Given the description of an element on the screen output the (x, y) to click on. 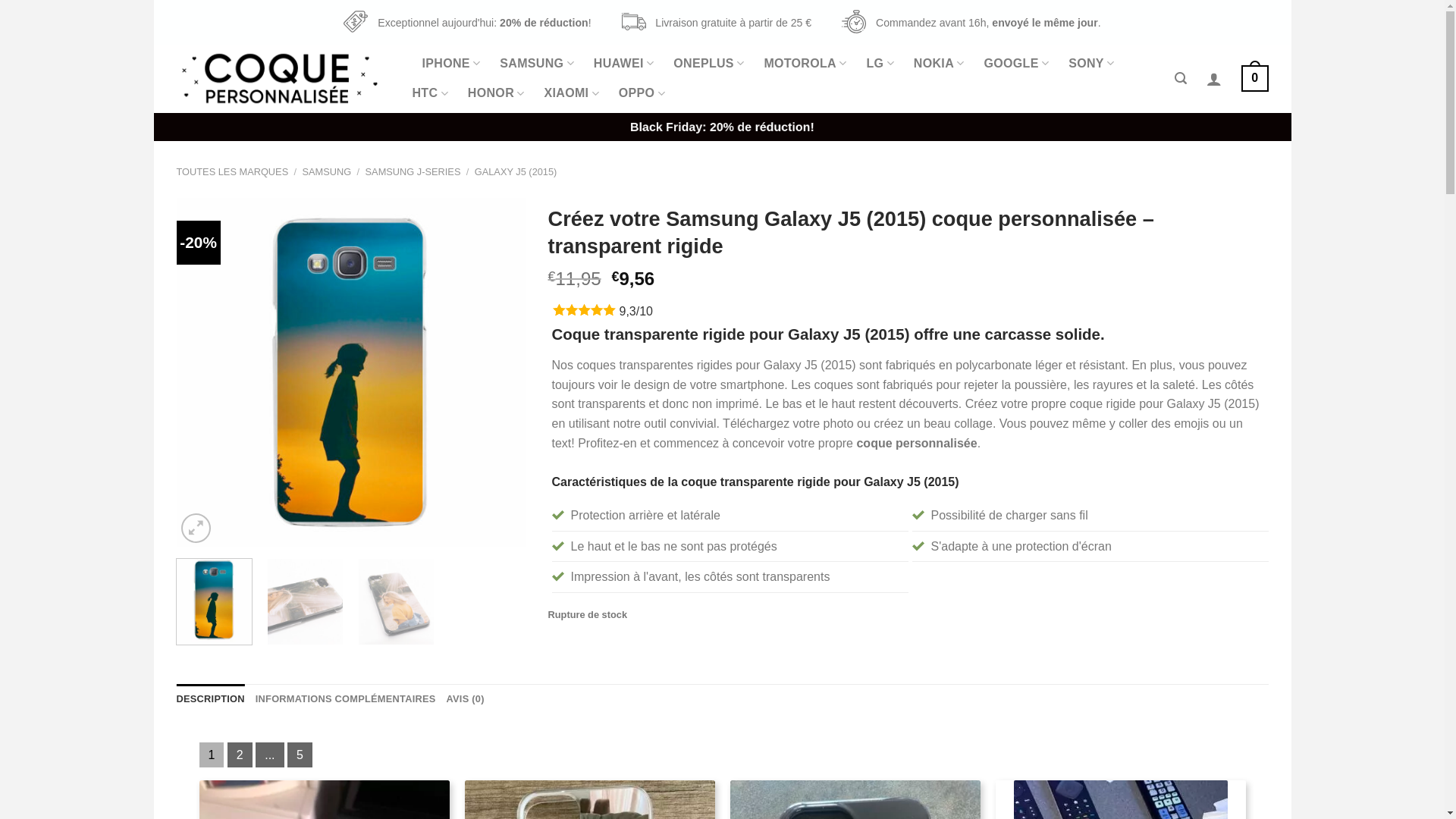
GOOGLE Element type: text (1016, 63)
MOTOROLA Element type: text (804, 63)
AVIS (0) Element type: text (465, 699)
SONY Element type: text (1090, 63)
SAMSUNG Element type: text (536, 63)
HTC Element type: text (430, 93)
NOKIA Element type: text (938, 63)
OPPO Element type: text (641, 93)
0 Element type: text (1254, 78)
ONEPLUS Element type: text (708, 63)
2878-product-image-1.jpg Element type: hover (349, 371)
HONOR Element type: text (495, 93)
SAMSUNG Element type: text (326, 171)
DESCRIPTION Element type: text (209, 699)
2 Element type: text (239, 754)
LG Element type: text (879, 63)
XIAOMI Element type: text (571, 93)
9,3/10 Element type: text (635, 310)
GALAXY J5 (2015) Element type: text (515, 171)
SAMSUNG J-SERIES Element type: text (413, 171)
5 Element type: text (299, 754)
TOUTES LES MARQUES Element type: text (231, 171)
IPHONE Element type: text (450, 63)
HUAWEI Element type: text (623, 63)
